Given the description of an element on the screen output the (x, y) to click on. 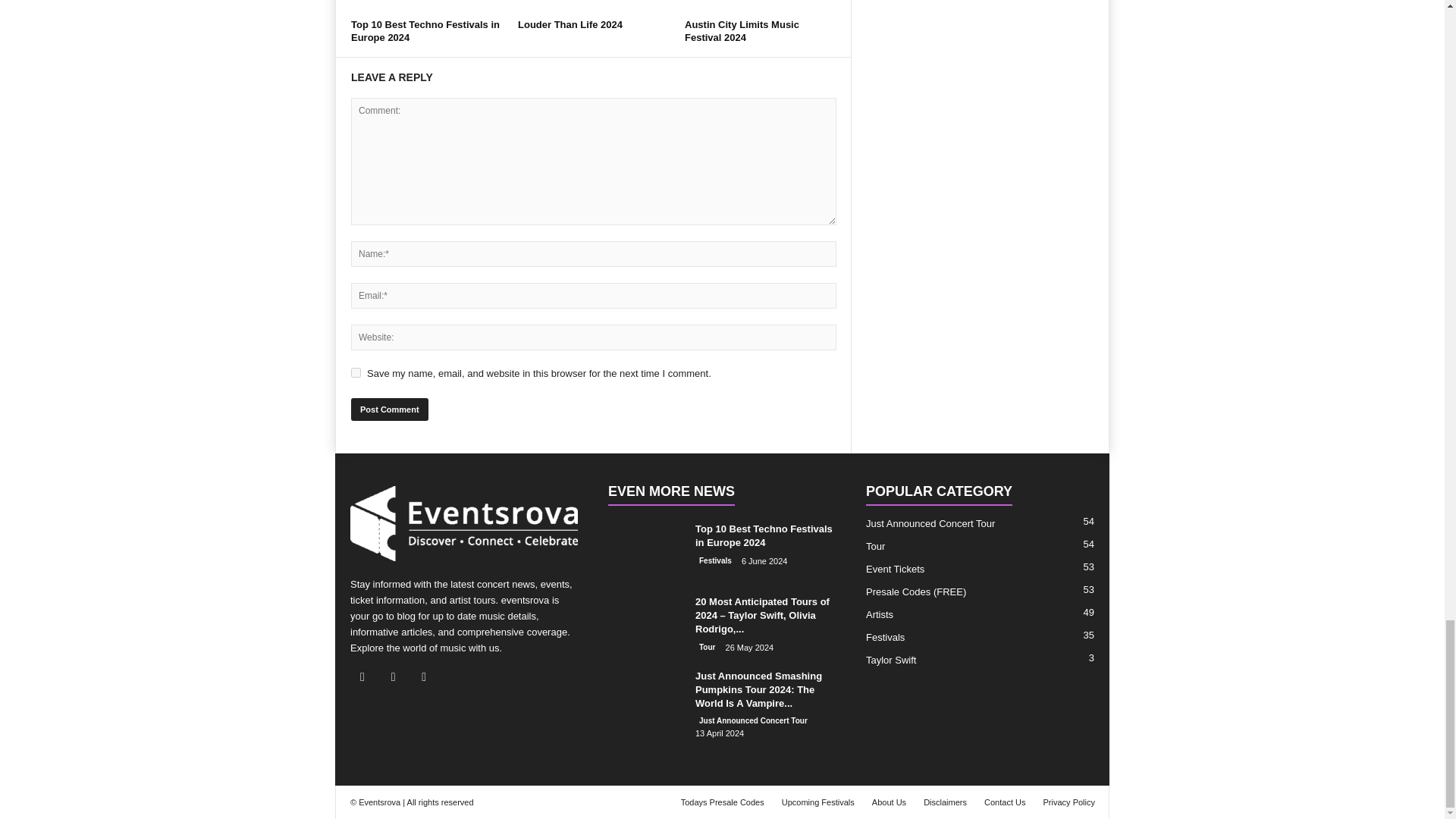
yes (355, 372)
Post Comment (389, 409)
